Given the description of an element on the screen output the (x, y) to click on. 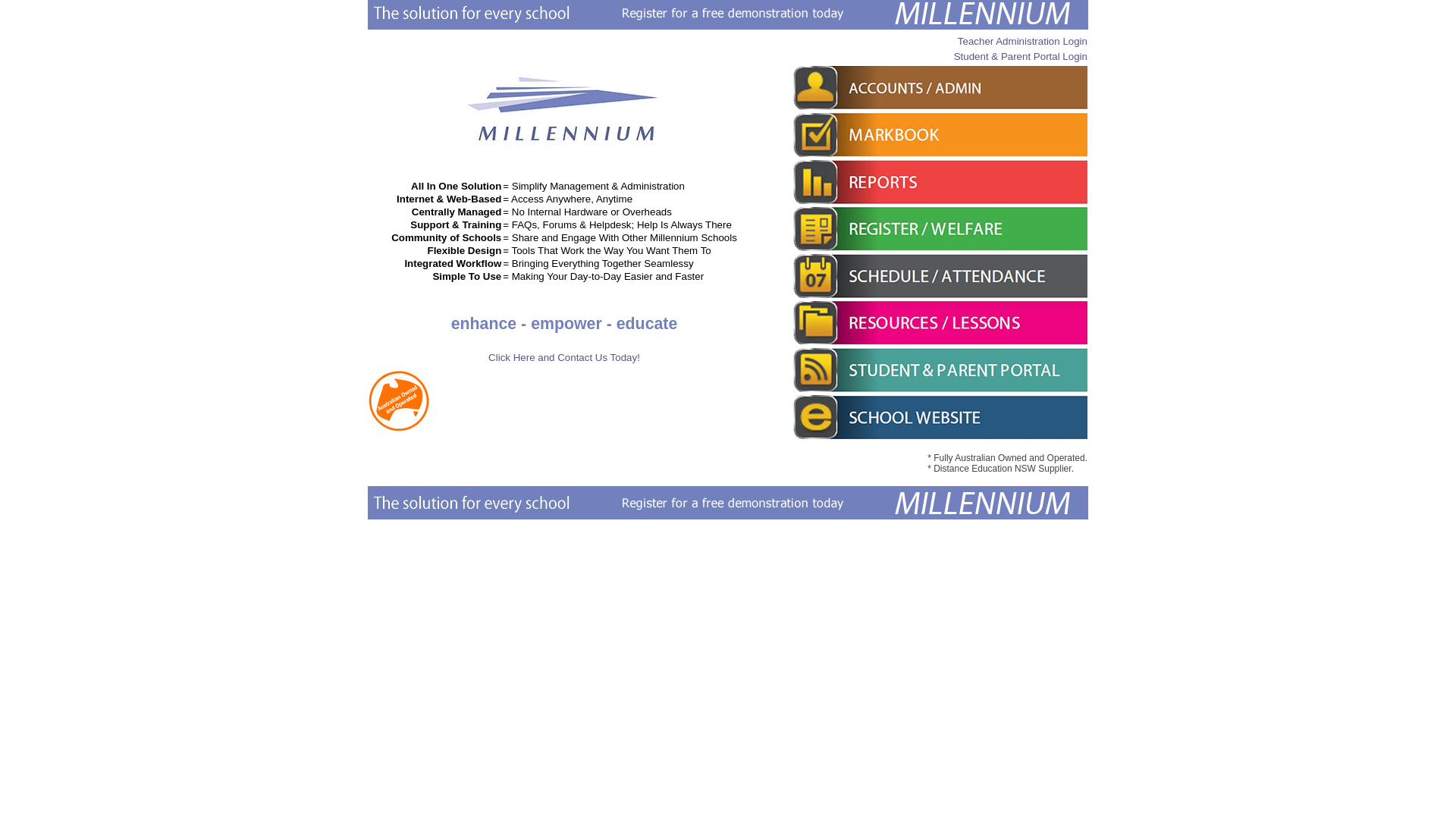
Reports Element type: hover (939, 181)
Home Element type: hover (563, 153)
Click Here and Contact Us Today! Element type: text (564, 357)
Teacher Administration Login Element type: text (1022, 41)
Student & Parent Portal Login Element type: text (1020, 56)
Register for a free demonstration Element type: hover (727, 502)
Accounts & Users Element type: hover (939, 87)
Resources / Calendar Element type: hover (939, 323)
School Website Element type: hover (939, 417)
Schedule / Attendance Element type: hover (939, 276)
Register / Welfare Element type: hover (939, 229)
Student / Parent Portal Element type: hover (939, 370)
Markbook Element type: hover (939, 134)
